Given the description of an element on the screen output the (x, y) to click on. 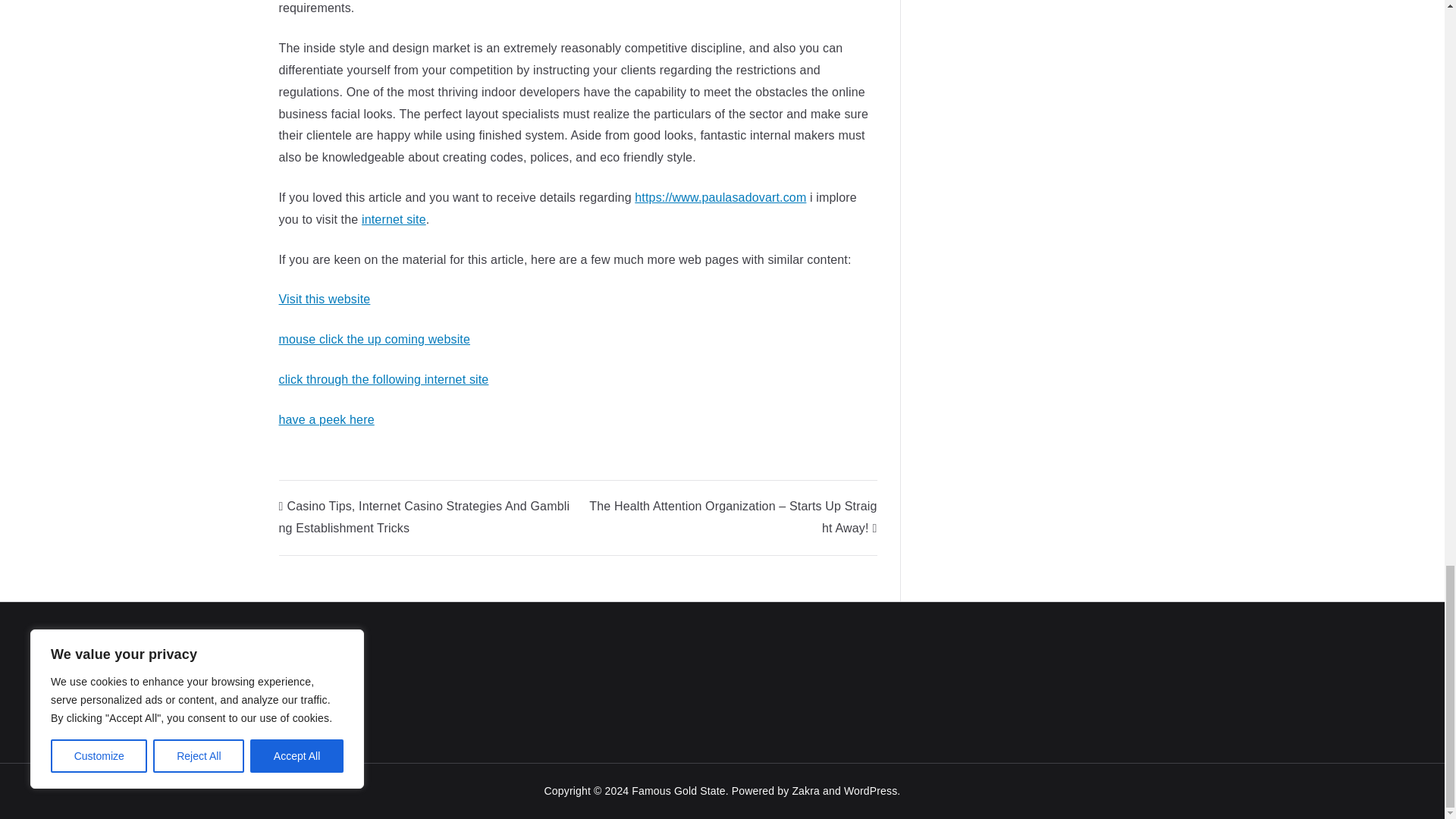
click through the following internet site (384, 379)
mouse click the up coming website (374, 338)
Visit this website (325, 298)
internet site (393, 219)
Famous Gold State (678, 790)
have a peek here (326, 419)
Zakra (805, 790)
WordPress (870, 790)
